Given the description of an element on the screen output the (x, y) to click on. 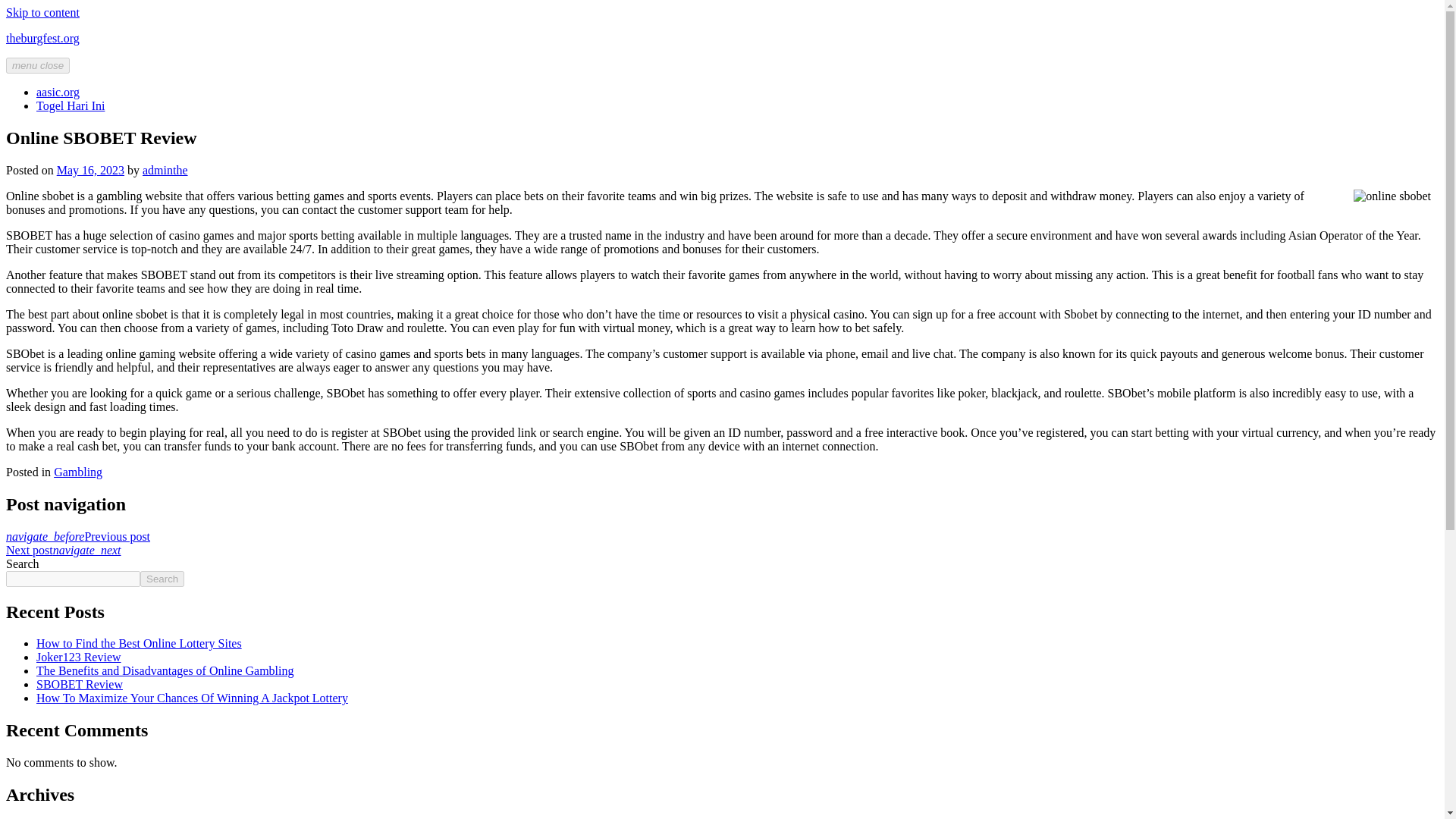
SBOBET Review (79, 684)
adminthe (164, 169)
May 16, 2023 (89, 169)
How To Maximize Your Chances Of Winning A Jackpot Lottery (191, 697)
How to Find the Best Online Lottery Sites (138, 643)
Search (161, 578)
Gambling (77, 472)
aasic.org (58, 91)
Skip to content (42, 11)
The Benefits and Disadvantages of Online Gambling (165, 670)
Joker123 Review (78, 656)
menu close (37, 65)
theburgfest.org (42, 38)
Togel Hari Ini (70, 105)
